Given the description of an element on the screen output the (x, y) to click on. 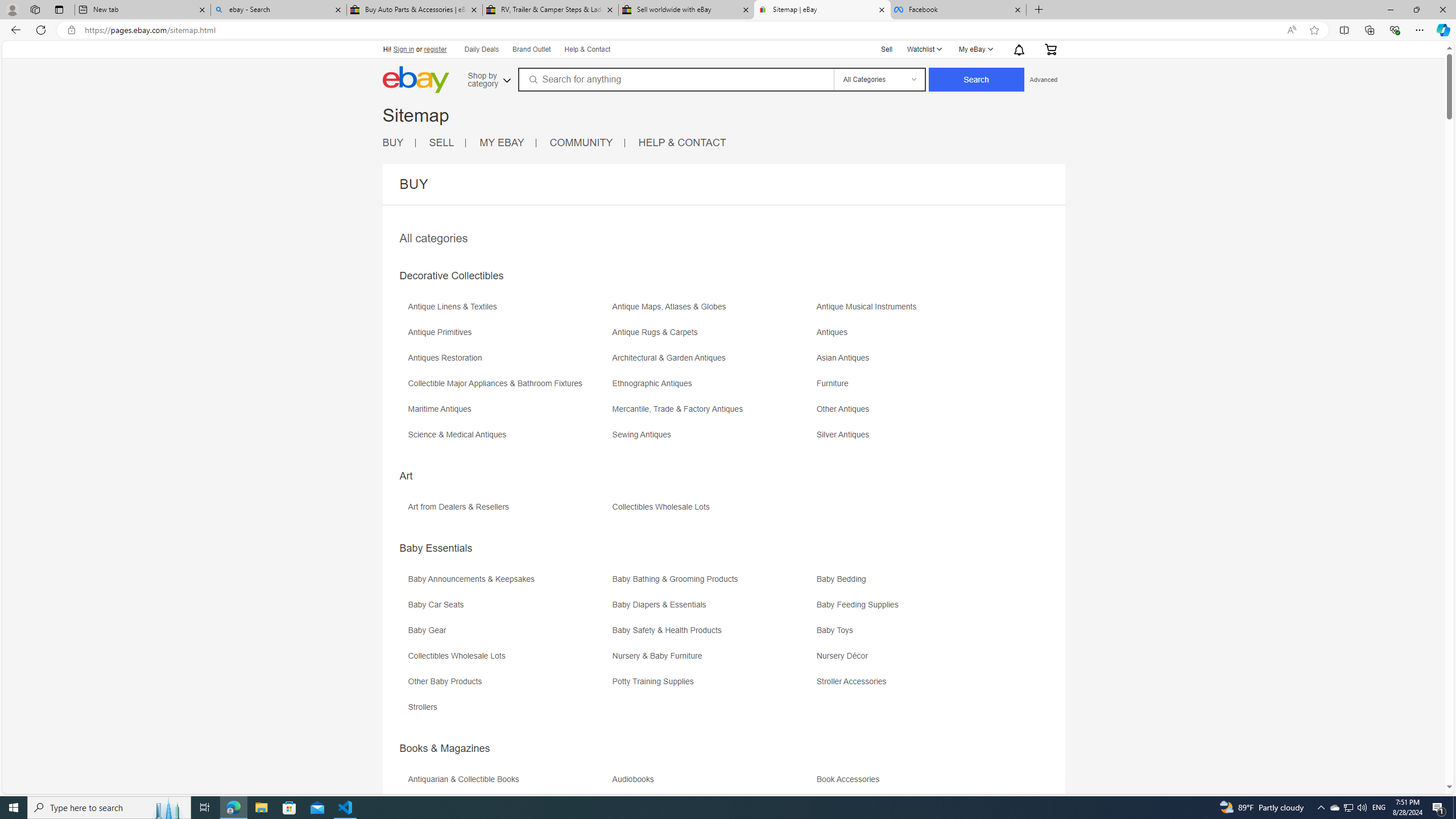
Books & Magazines (444, 748)
SELL (447, 142)
Collectible Major Appliances & Bathroom Fixtures (508, 387)
BUY (398, 142)
Brand Outlet (531, 49)
Art from Dealers & Resellers (508, 510)
Stroller Accessories (854, 681)
Baby Feeding Supplies (917, 608)
Baby Essentials (435, 547)
Asian Antiques (845, 357)
Audiobooks (712, 783)
Antique Maps, Atlases & Globes (712, 310)
